Given the description of an element on the screen output the (x, y) to click on. 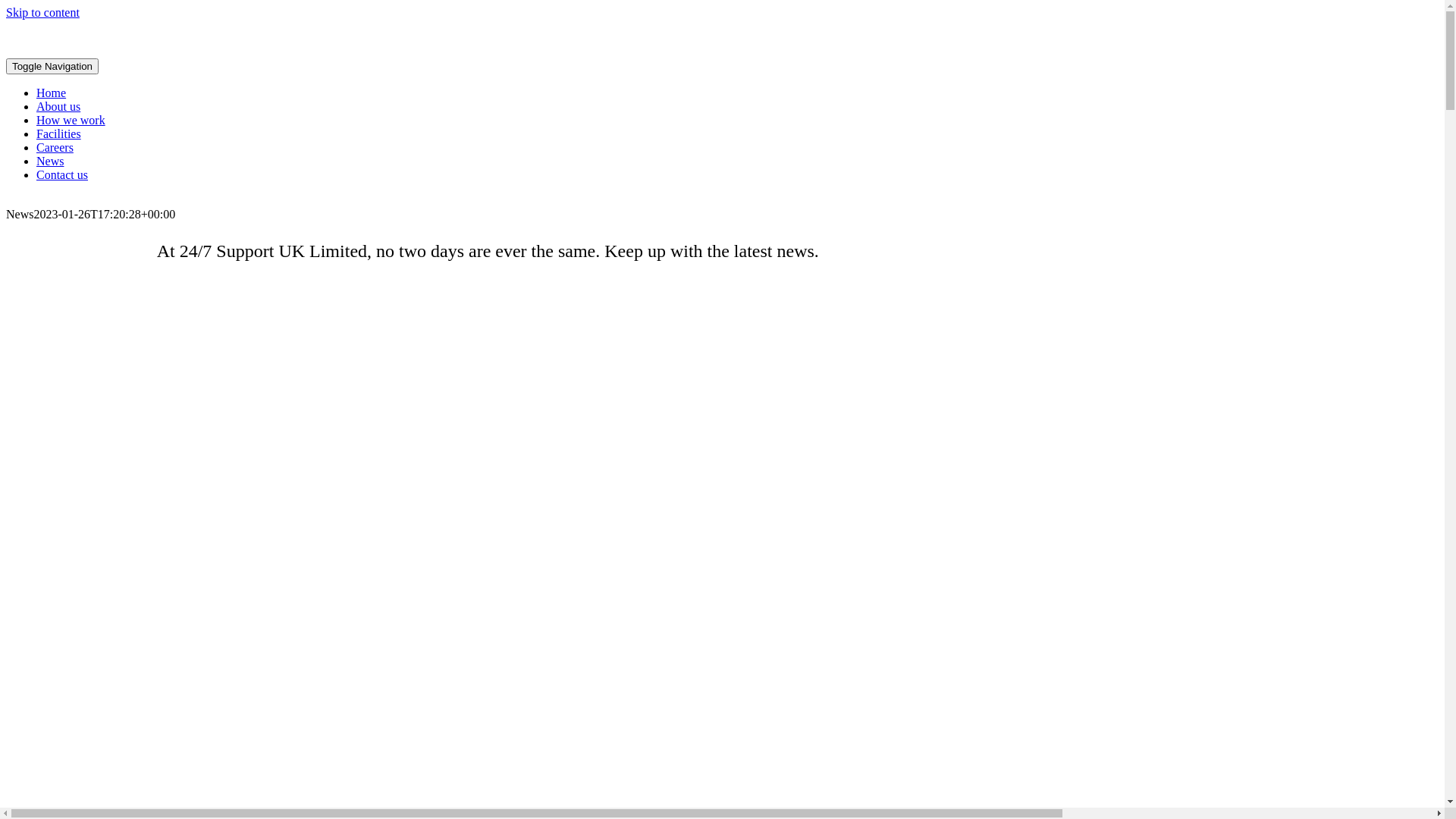
Facilities Element type: text (58, 133)
About us Element type: text (58, 106)
How we work Element type: text (70, 119)
News Element type: text (49, 160)
Careers Element type: text (54, 147)
Skip to content Element type: text (42, 12)
Home Element type: text (50, 92)
Toggle Navigation Element type: text (52, 66)
Contact us Element type: text (61, 174)
